Given the description of an element on the screen output the (x, y) to click on. 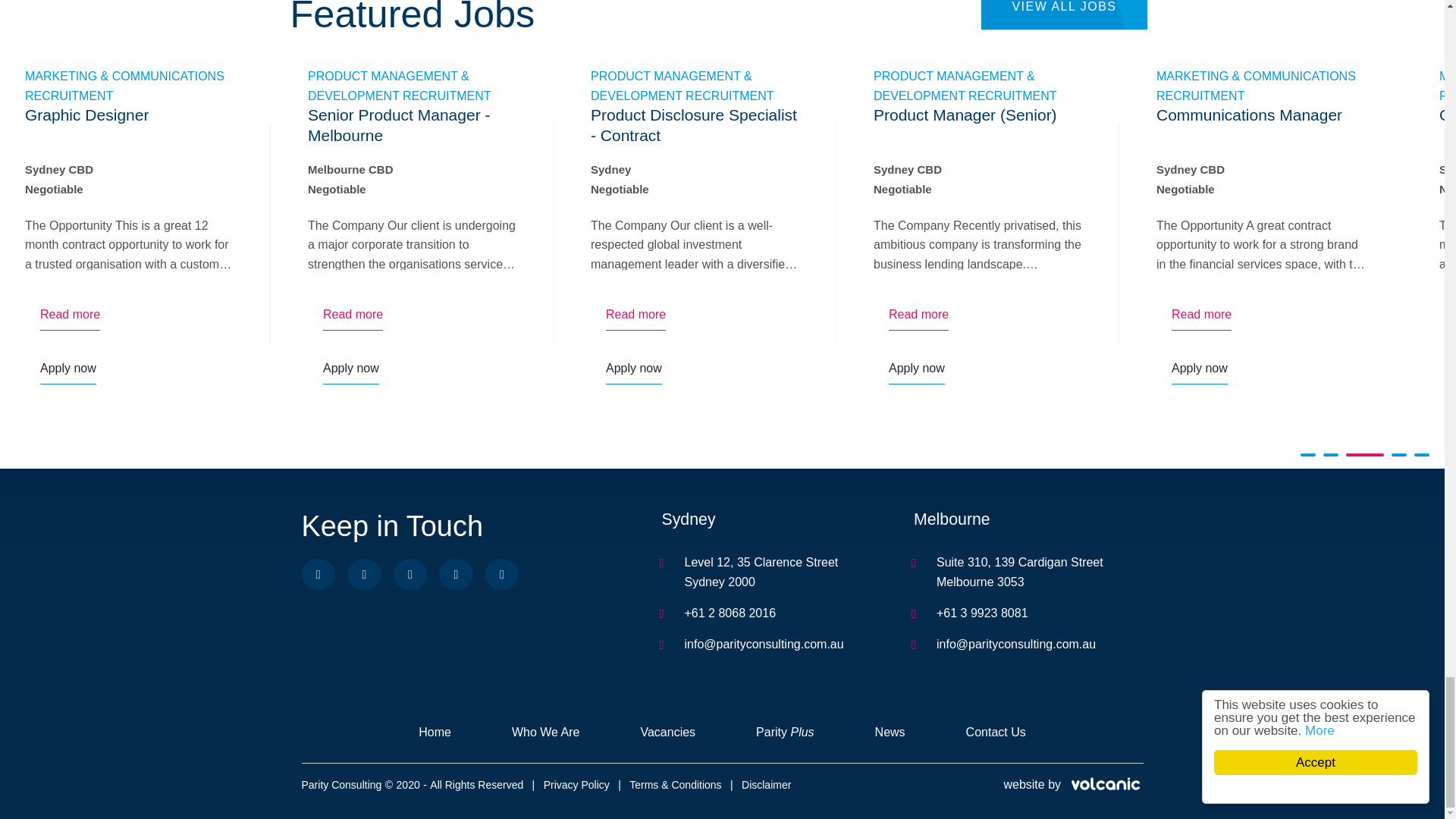
Volcanic (1104, 785)
